Given the description of an element on the screen output the (x, y) to click on. 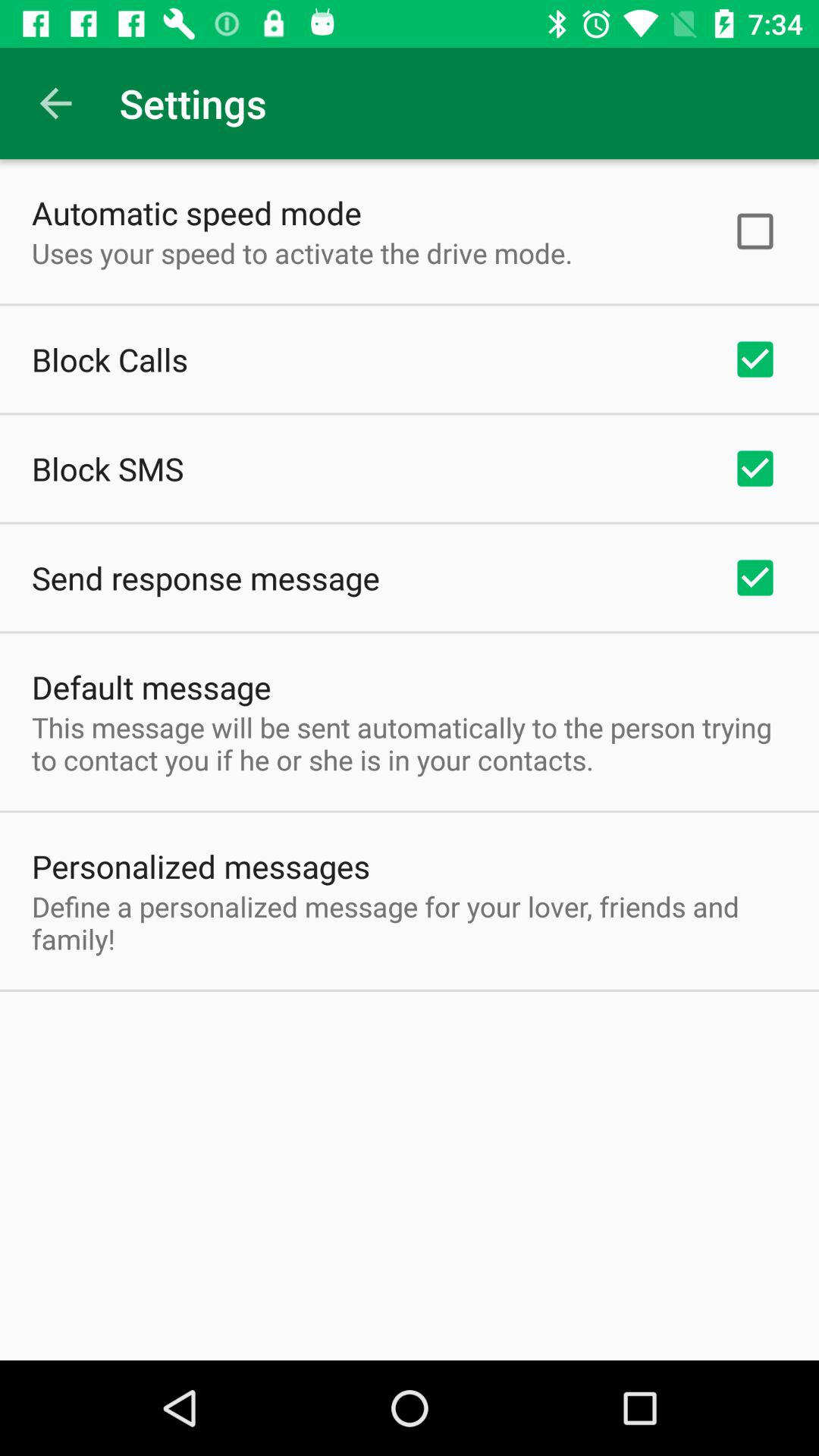
swipe until the uses your speed app (301, 252)
